Given the description of an element on the screen output the (x, y) to click on. 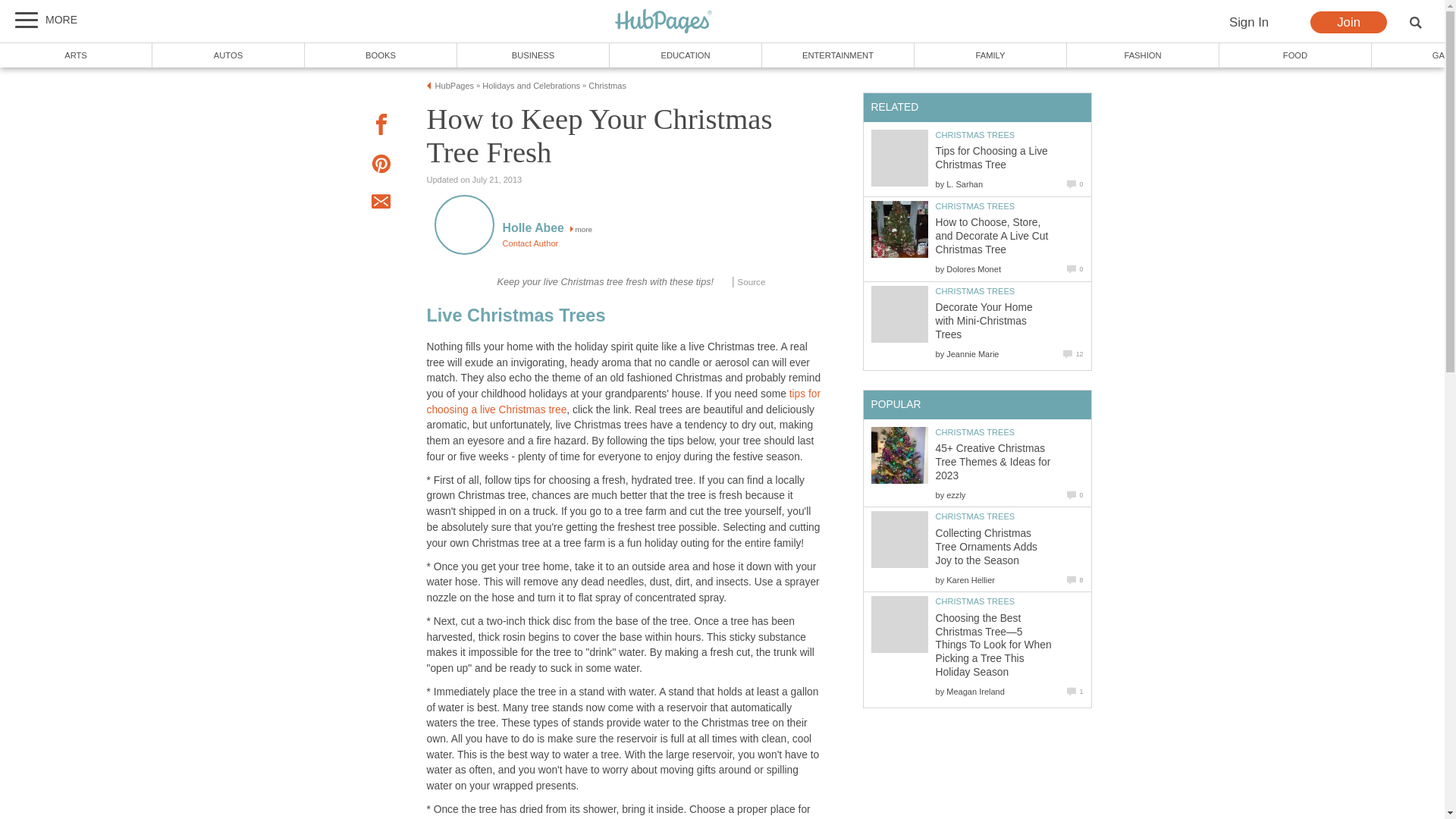
Holle Abee more (547, 229)
ARTS (76, 55)
Contact Author (529, 243)
ENTERTAINMENT (837, 55)
Email (380, 203)
FOOD (1295, 55)
EDUCATION (685, 55)
BOOKS (380, 55)
HubPages (454, 85)
HubPages (663, 22)
HubPages (663, 21)
How to Choose, Store, and Decorate A Live Cut Christmas Tree (898, 228)
Join (1348, 22)
FASHION (1143, 55)
tips for choosing a live Christmas tree (623, 401)
